Given the description of an element on the screen output the (x, y) to click on. 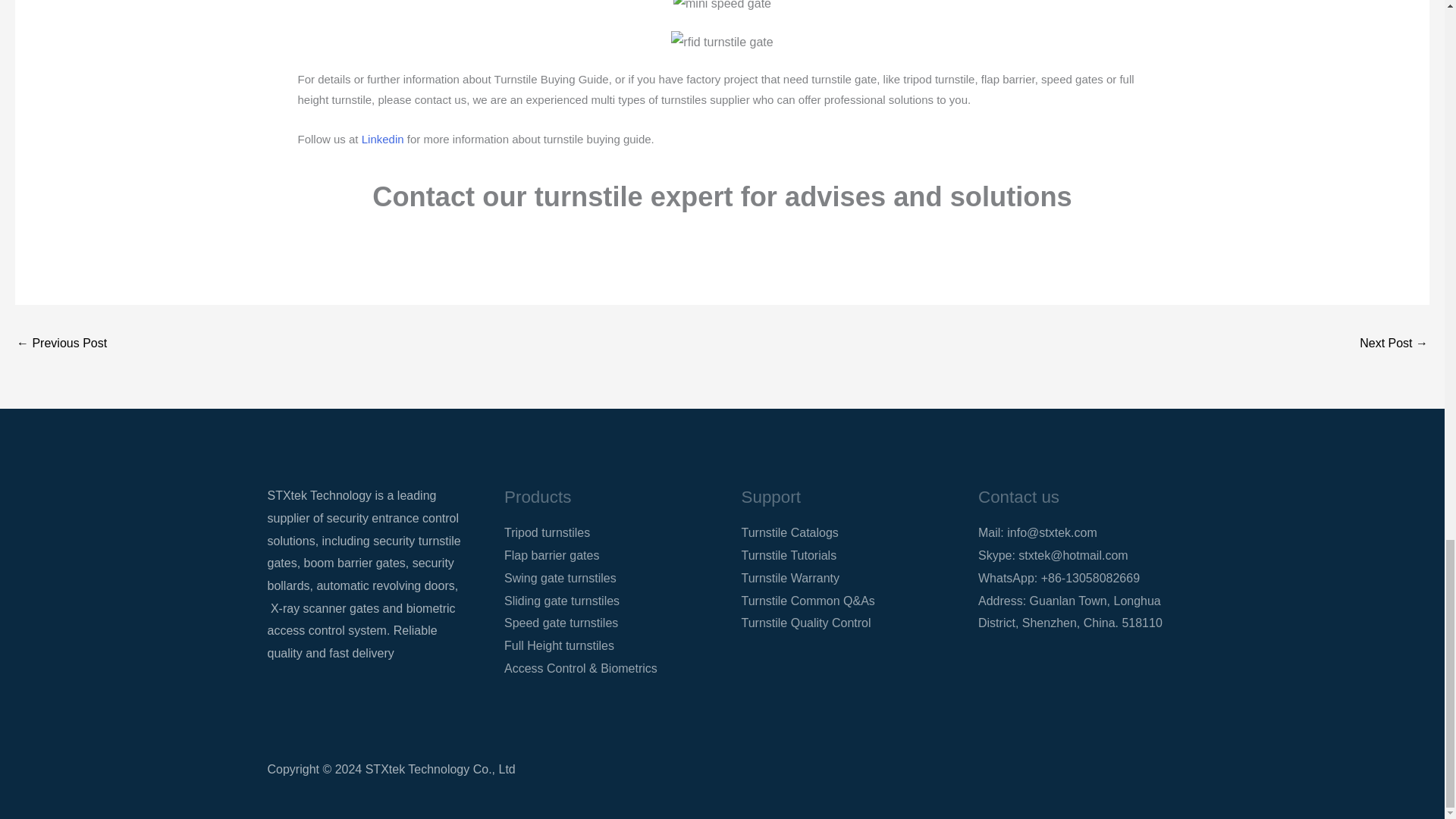
What is the advantages of facial recognition turnstile gates (1393, 344)
Types of Access Control Turnstile (61, 344)
